Given the description of an element on the screen output the (x, y) to click on. 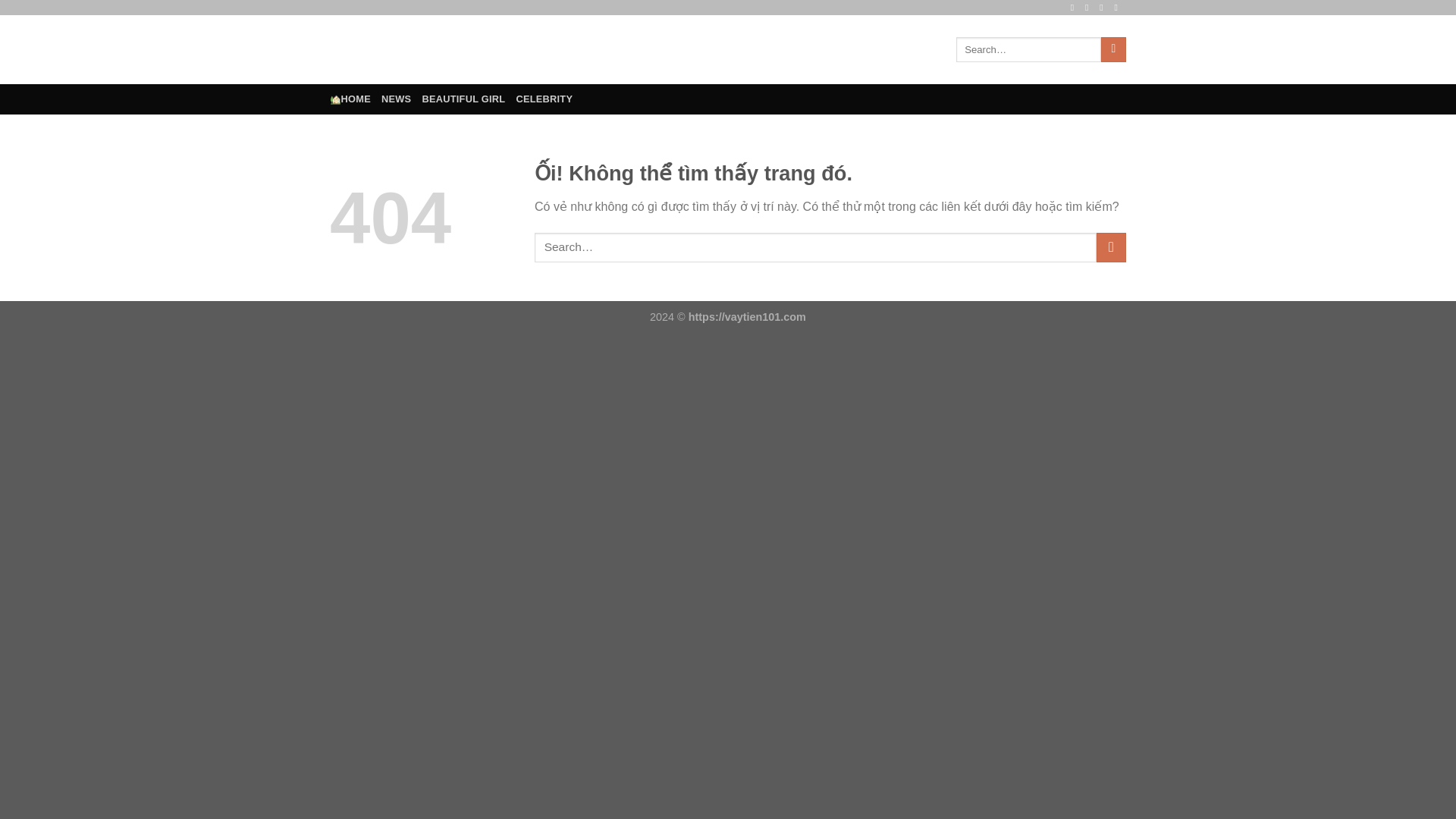
CELEBRITY (543, 99)
WORLD OF BEAUTIFUL GIRLS (569, 49)
WORLD OF BEAUTIFUL GIRLS (569, 49)
BEAUTIFUL GIRL (463, 99)
NEWS (395, 99)
HOME (350, 99)
